Given the description of an element on the screen output the (x, y) to click on. 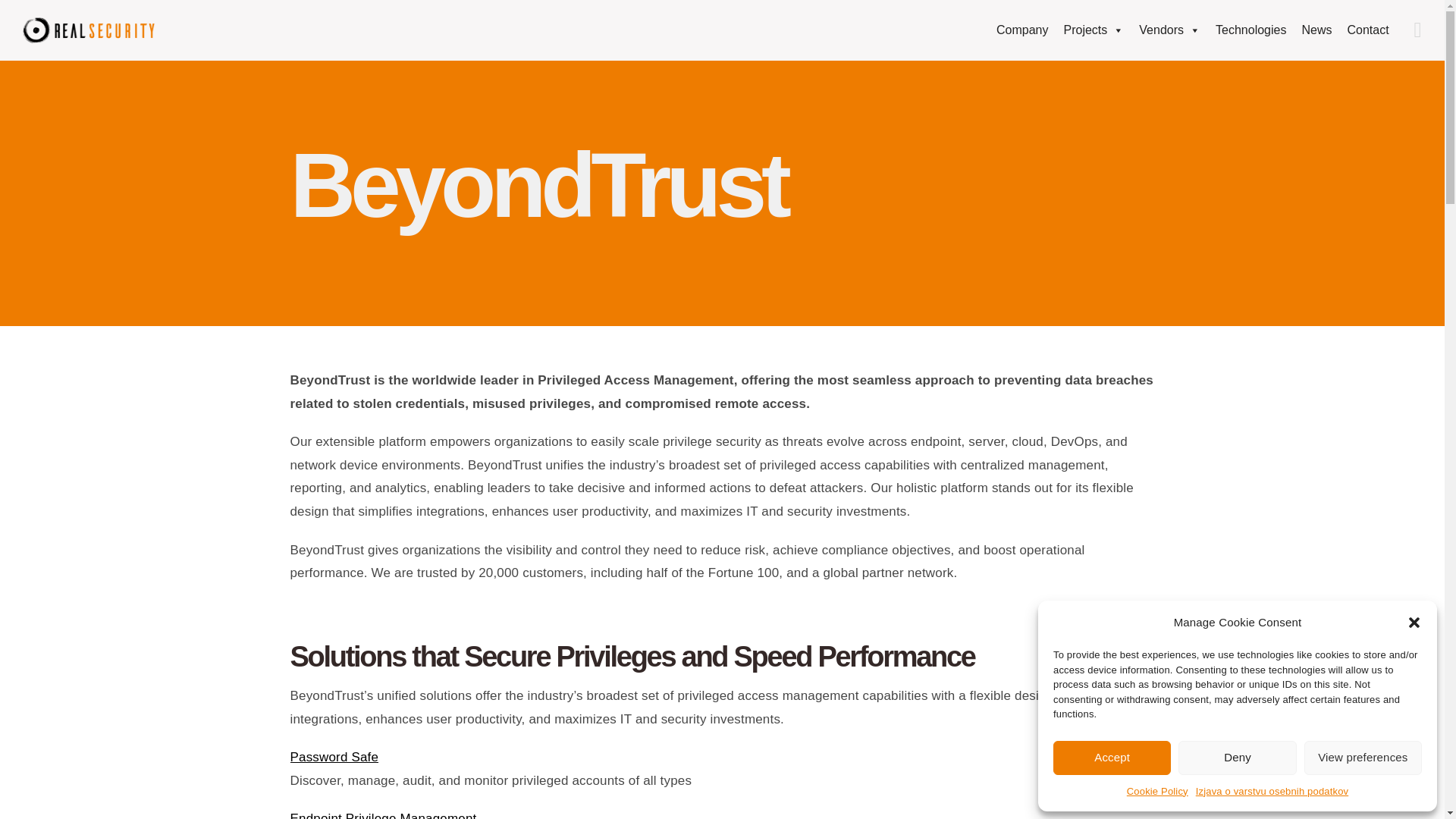
Accept (1181, 30)
Deny (1111, 757)
Izjava o varstvu osebnih podatkov (1236, 757)
Vendors (1271, 791)
View preferences (1169, 30)
Cookie Policy (1363, 757)
Projects (1157, 791)
Company (1094, 30)
BeyondTrust (1021, 30)
